Given the description of an element on the screen output the (x, y) to click on. 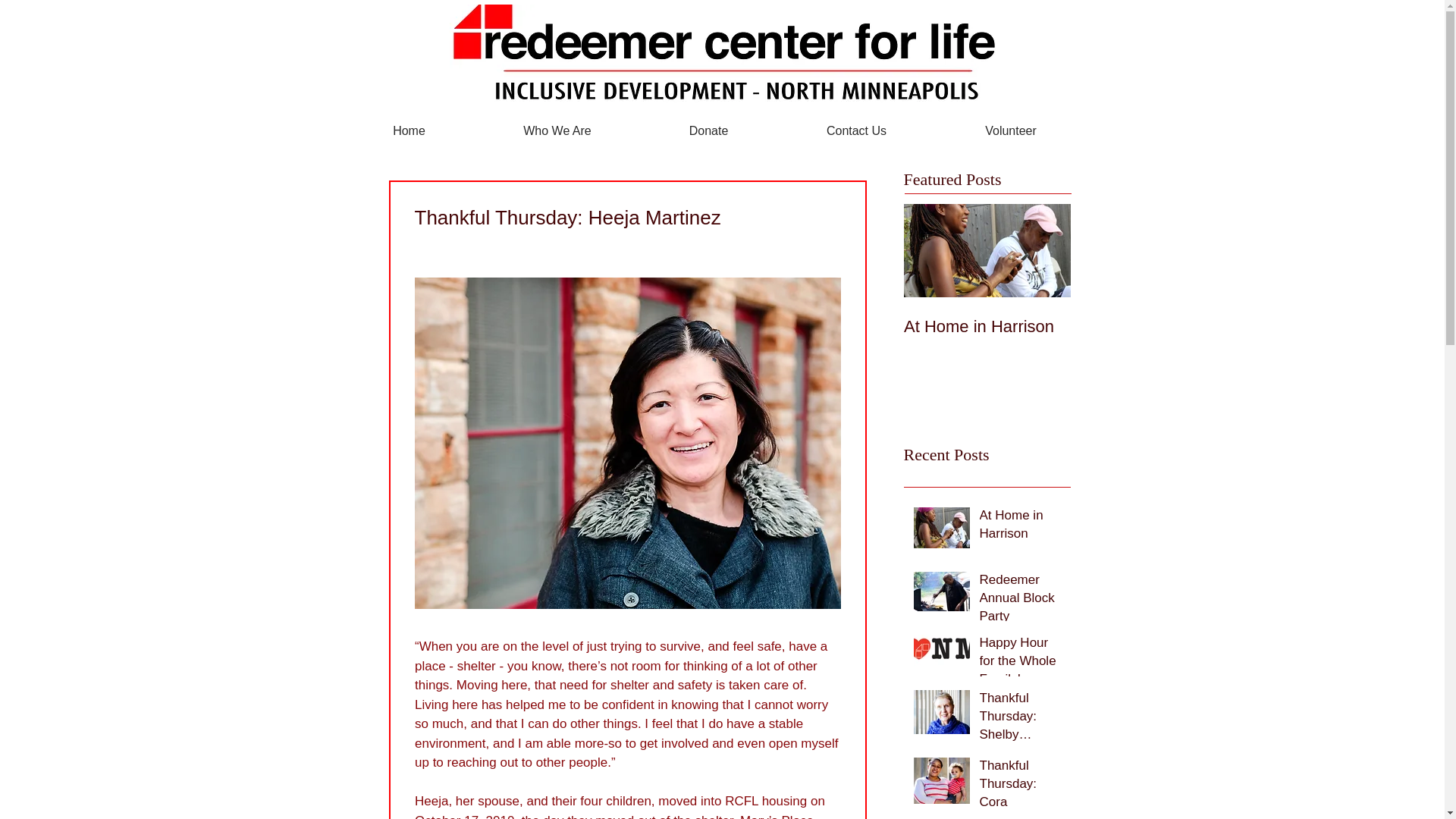
Redeemer Annual Block Party (1020, 600)
Thankful Thursday: Shelby Andress (1020, 719)
At Home in Harrison (987, 326)
Home (408, 130)
Happy Hour for the Whole Family! (1020, 663)
Thankful Thursday: Cora (1020, 786)
Volunteer (1011, 130)
Contact Us (856, 130)
At Home in Harrison (1020, 527)
Donate (708, 130)
